Given the description of an element on the screen output the (x, y) to click on. 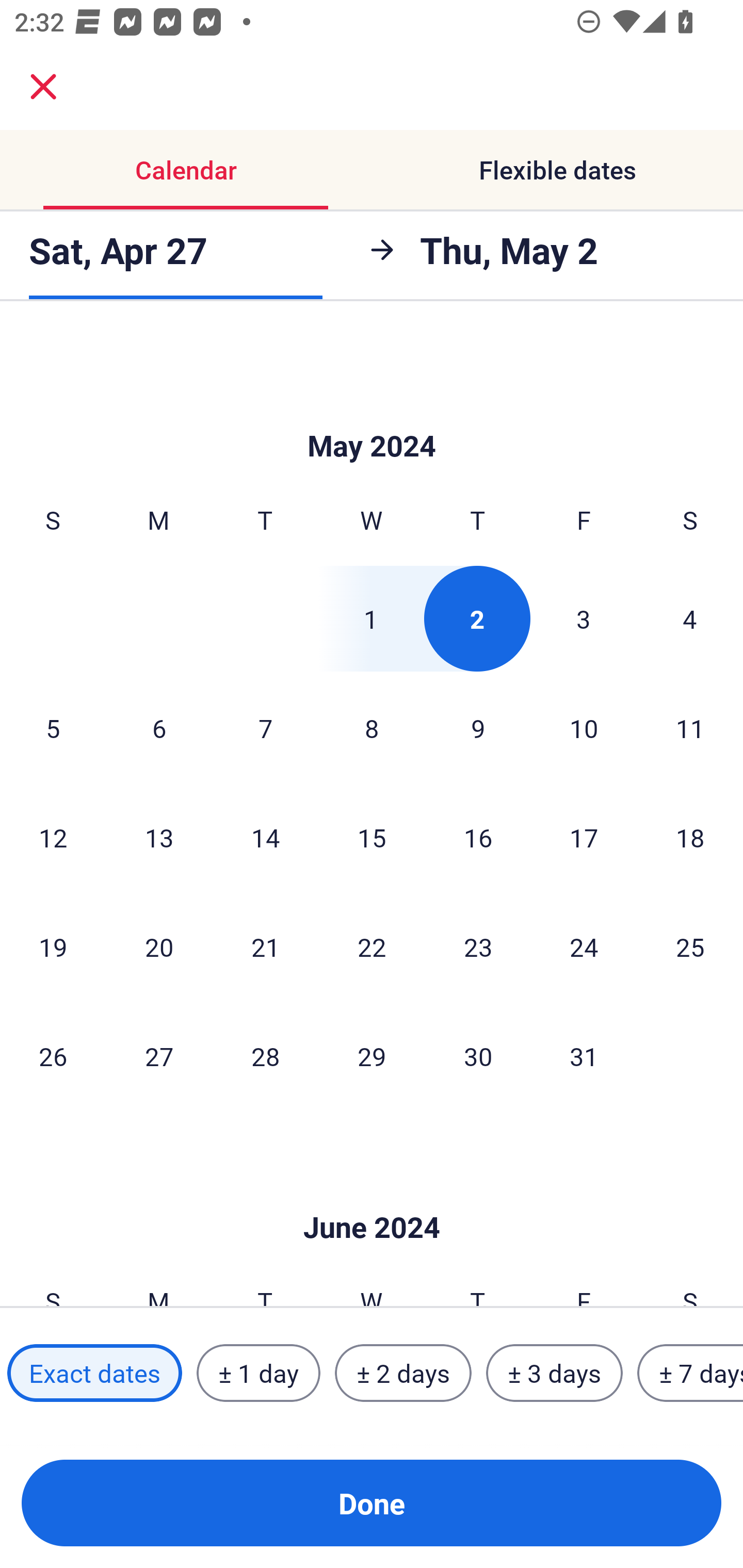
close. (43, 86)
Flexible dates (557, 170)
Skip to Done (371, 414)
3 Friday, May 3, 2024 (583, 618)
4 Saturday, May 4, 2024 (689, 618)
5 Sunday, May 5, 2024 (53, 727)
6 Monday, May 6, 2024 (159, 727)
7 Tuesday, May 7, 2024 (265, 727)
8 Wednesday, May 8, 2024 (371, 727)
9 Thursday, May 9, 2024 (477, 727)
10 Friday, May 10, 2024 (584, 727)
11 Saturday, May 11, 2024 (690, 727)
12 Sunday, May 12, 2024 (53, 837)
13 Monday, May 13, 2024 (159, 837)
14 Tuesday, May 14, 2024 (265, 837)
15 Wednesday, May 15, 2024 (371, 837)
16 Thursday, May 16, 2024 (477, 837)
17 Friday, May 17, 2024 (584, 837)
18 Saturday, May 18, 2024 (690, 837)
19 Sunday, May 19, 2024 (53, 946)
20 Monday, May 20, 2024 (159, 946)
21 Tuesday, May 21, 2024 (265, 946)
22 Wednesday, May 22, 2024 (371, 946)
23 Thursday, May 23, 2024 (477, 946)
24 Friday, May 24, 2024 (584, 946)
25 Saturday, May 25, 2024 (690, 946)
26 Sunday, May 26, 2024 (53, 1055)
27 Monday, May 27, 2024 (159, 1055)
28 Tuesday, May 28, 2024 (265, 1055)
29 Wednesday, May 29, 2024 (371, 1055)
30 Thursday, May 30, 2024 (477, 1055)
31 Friday, May 31, 2024 (584, 1055)
Skip to Done (371, 1197)
Exact dates (94, 1372)
± 1 day (258, 1372)
± 2 days (403, 1372)
± 3 days (553, 1372)
± 7 days (690, 1372)
Done (371, 1502)
